Given the description of an element on the screen output the (x, y) to click on. 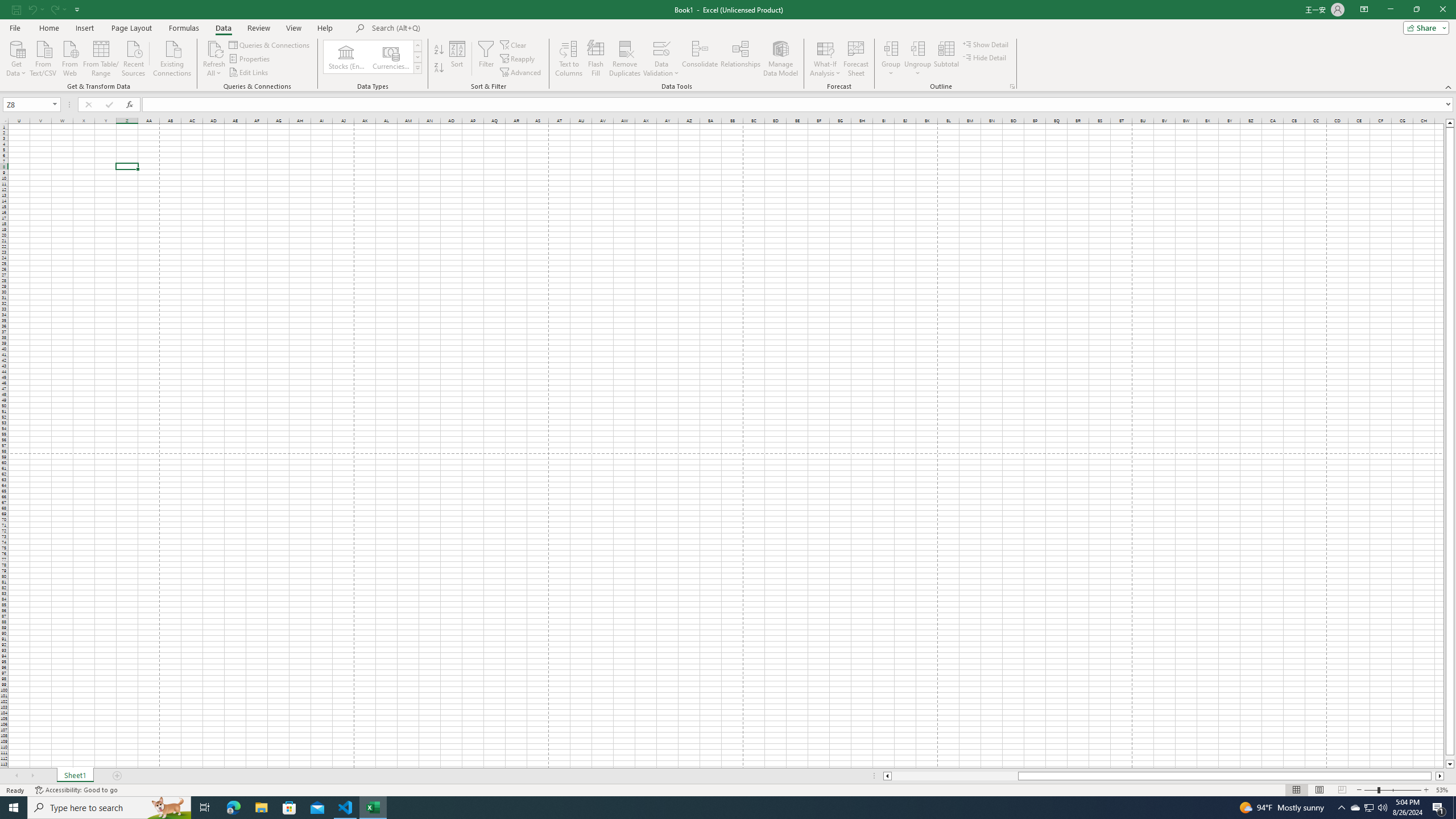
From Table/Range (100, 57)
Subtotal (946, 58)
Clear (513, 44)
Advanced... (520, 72)
Group and Outline Settings (1011, 85)
From Text/CSV (43, 57)
Filter (485, 58)
